Given the description of an element on the screen output the (x, y) to click on. 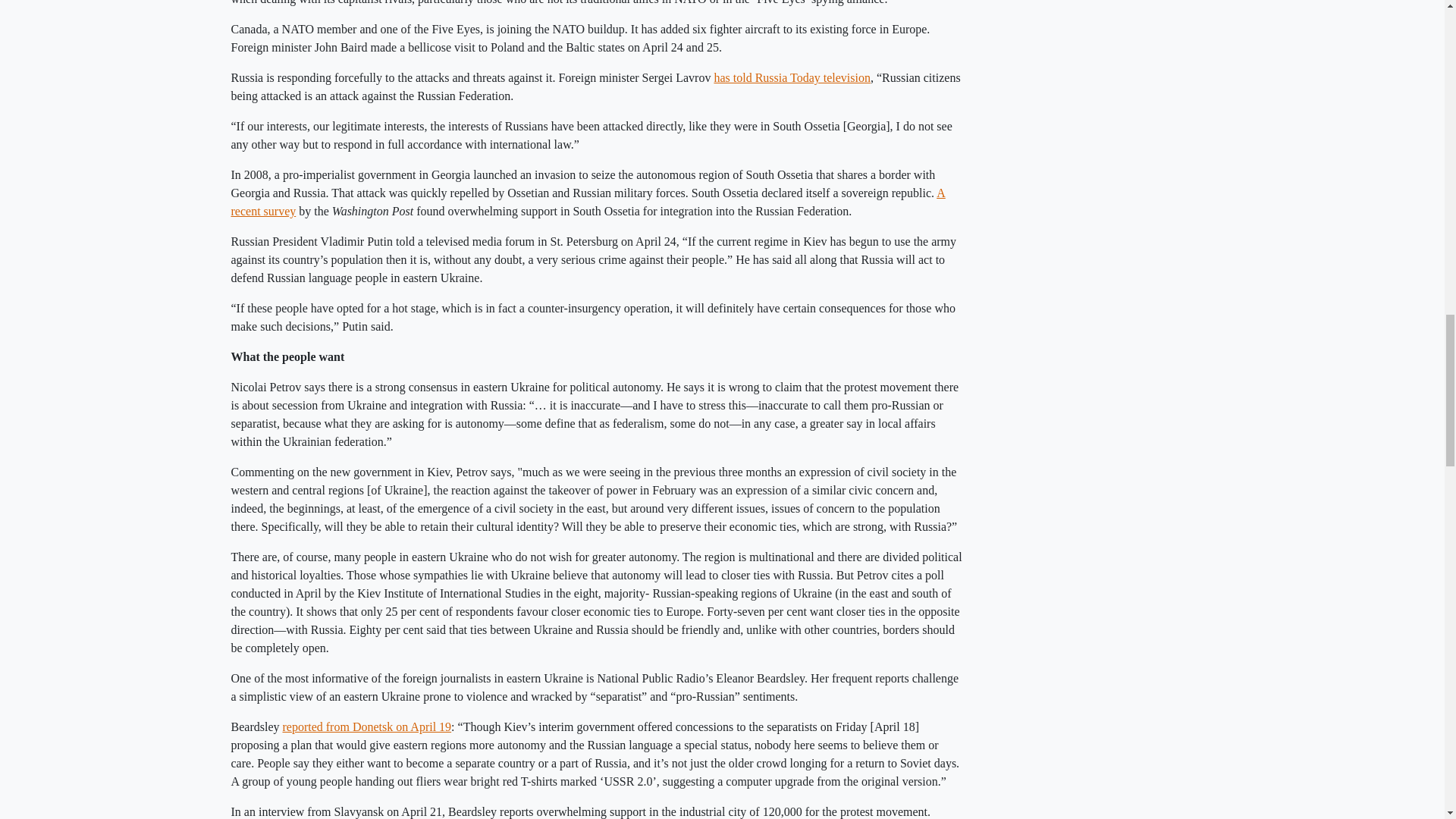
has told Russia Today television (791, 77)
A recent survey (587, 201)
reported from Donetsk on April 19 (366, 726)
